Given the description of an element on the screen output the (x, y) to click on. 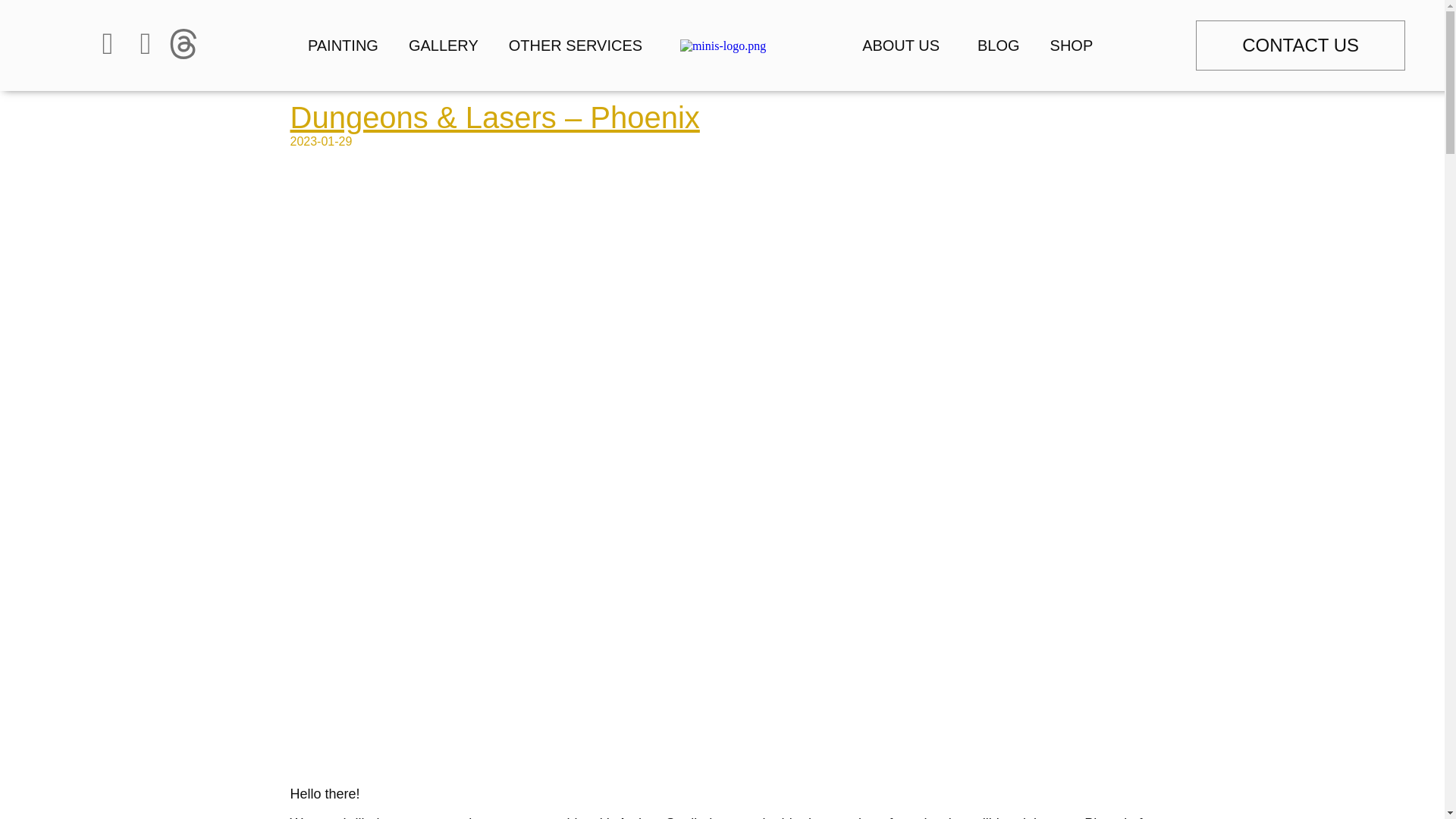
2023-01-29 (320, 141)
BLOG (998, 45)
minis-logo.png (722, 46)
PAINTING (342, 45)
GALLERY (443, 45)
ABOUT US (904, 45)
SHOP (1071, 45)
OTHER SERVICES (579, 45)
CONTACT US (1300, 45)
